Given the description of an element on the screen output the (x, y) to click on. 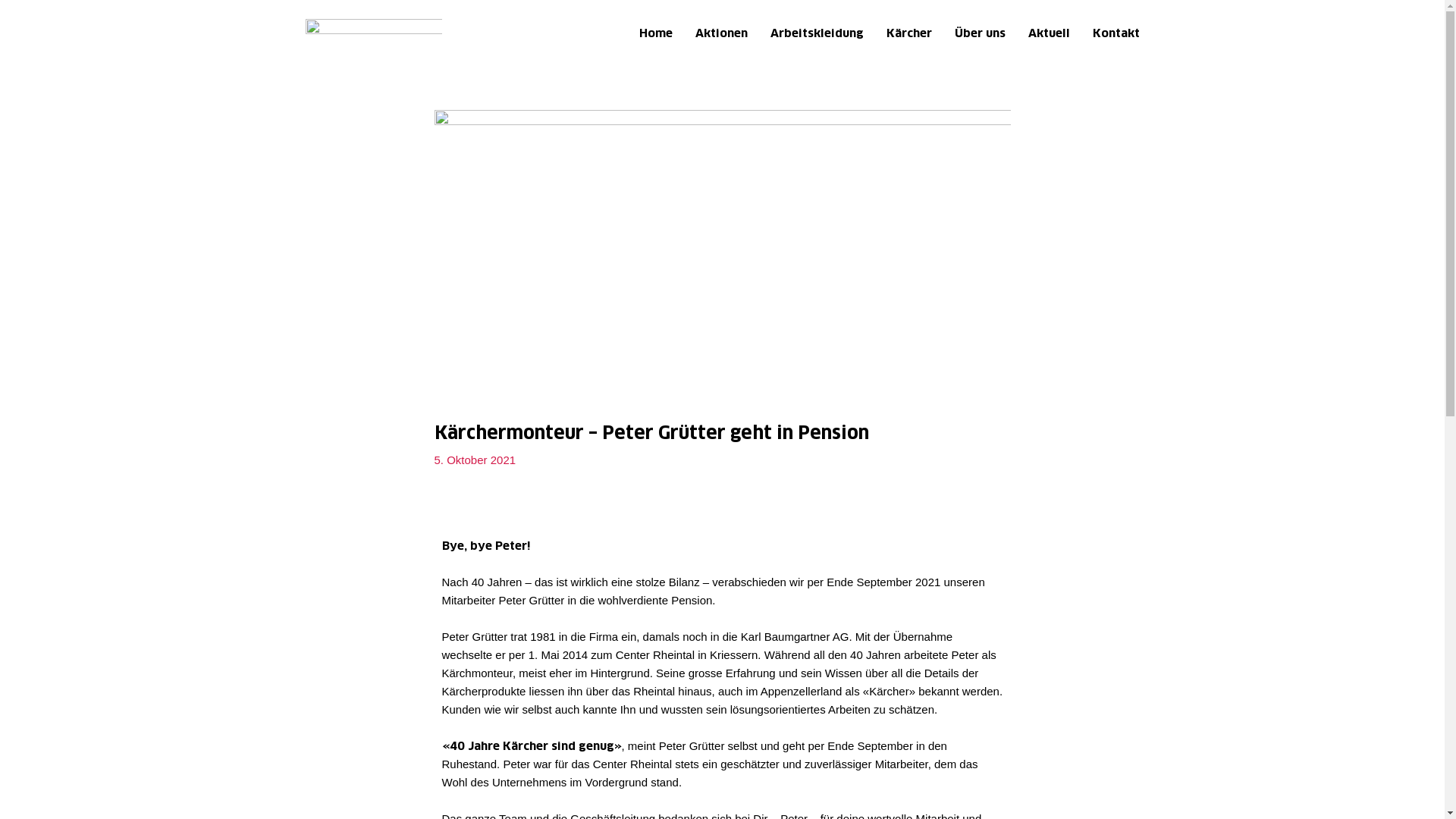
Aktionen Element type: text (720, 35)
Home Element type: text (654, 35)
Aktuell Element type: text (1049, 35)
Arbeitskleidung Element type: text (816, 35)
Kontakt Element type: text (1115, 35)
